Given the description of an element on the screen output the (x, y) to click on. 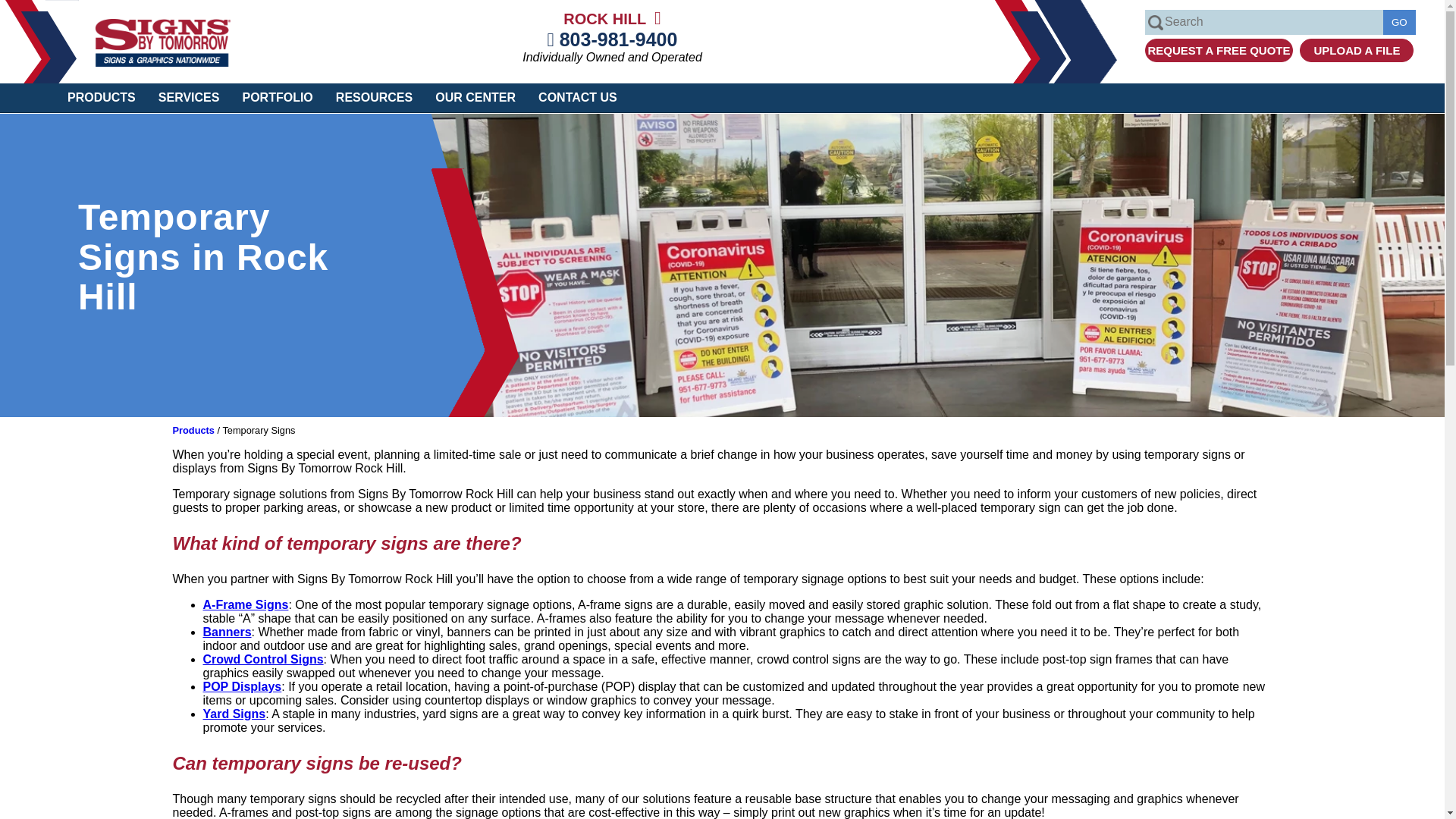
Upload a file (1356, 50)
803-981-9400 (612, 38)
RESOURCES (374, 97)
Banners (227, 631)
SERVICES (188, 97)
CALL US 803-981-9400 (612, 38)
PRODUCTS (101, 97)
Go (1399, 22)
Signs By Tomorrow (162, 62)
Go (1399, 22)
